Given the description of an element on the screen output the (x, y) to click on. 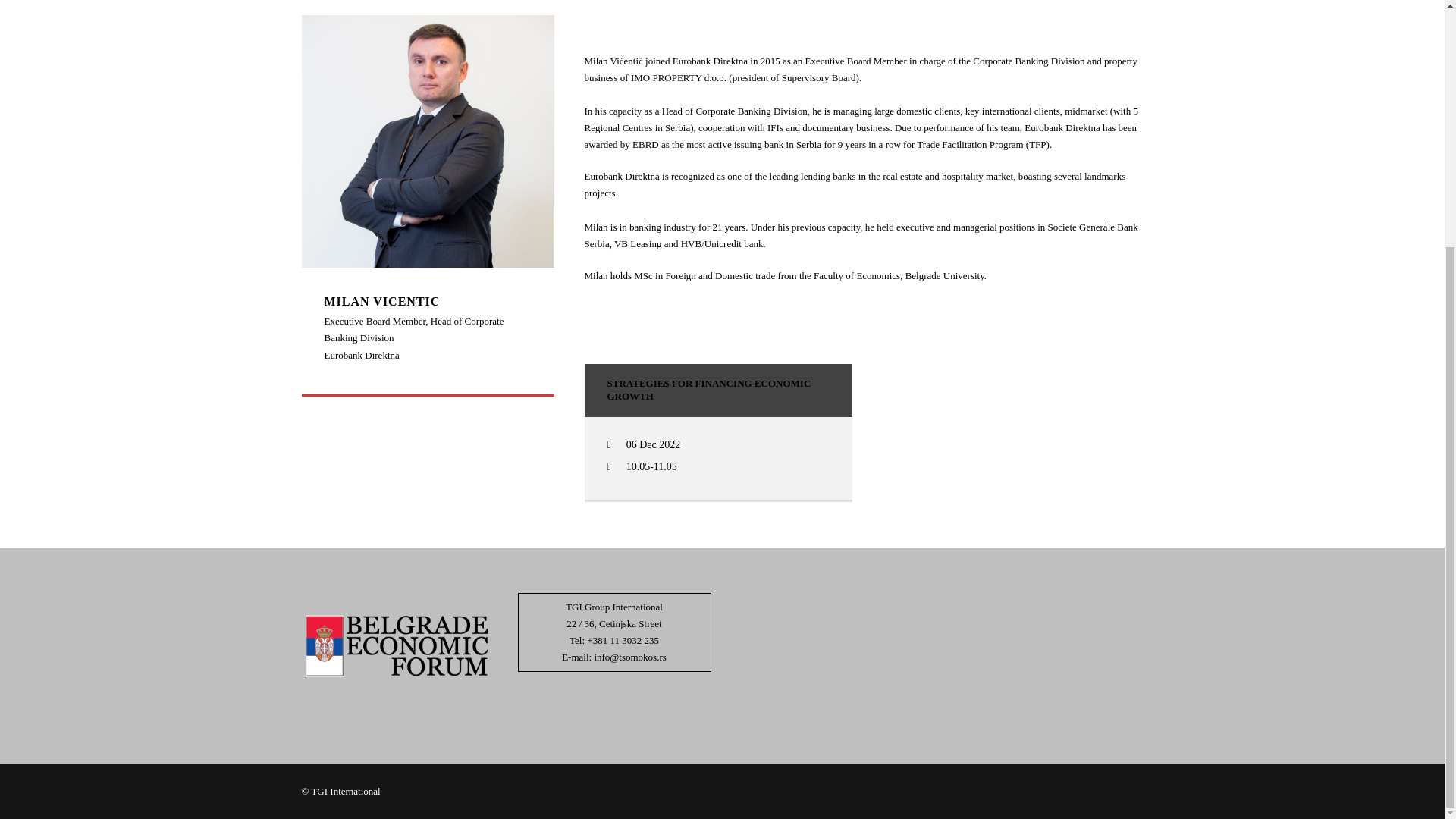
STRATEGIES FOR FINANCING ECONOMIC GROWTH (708, 389)
